Given the description of an element on the screen output the (x, y) to click on. 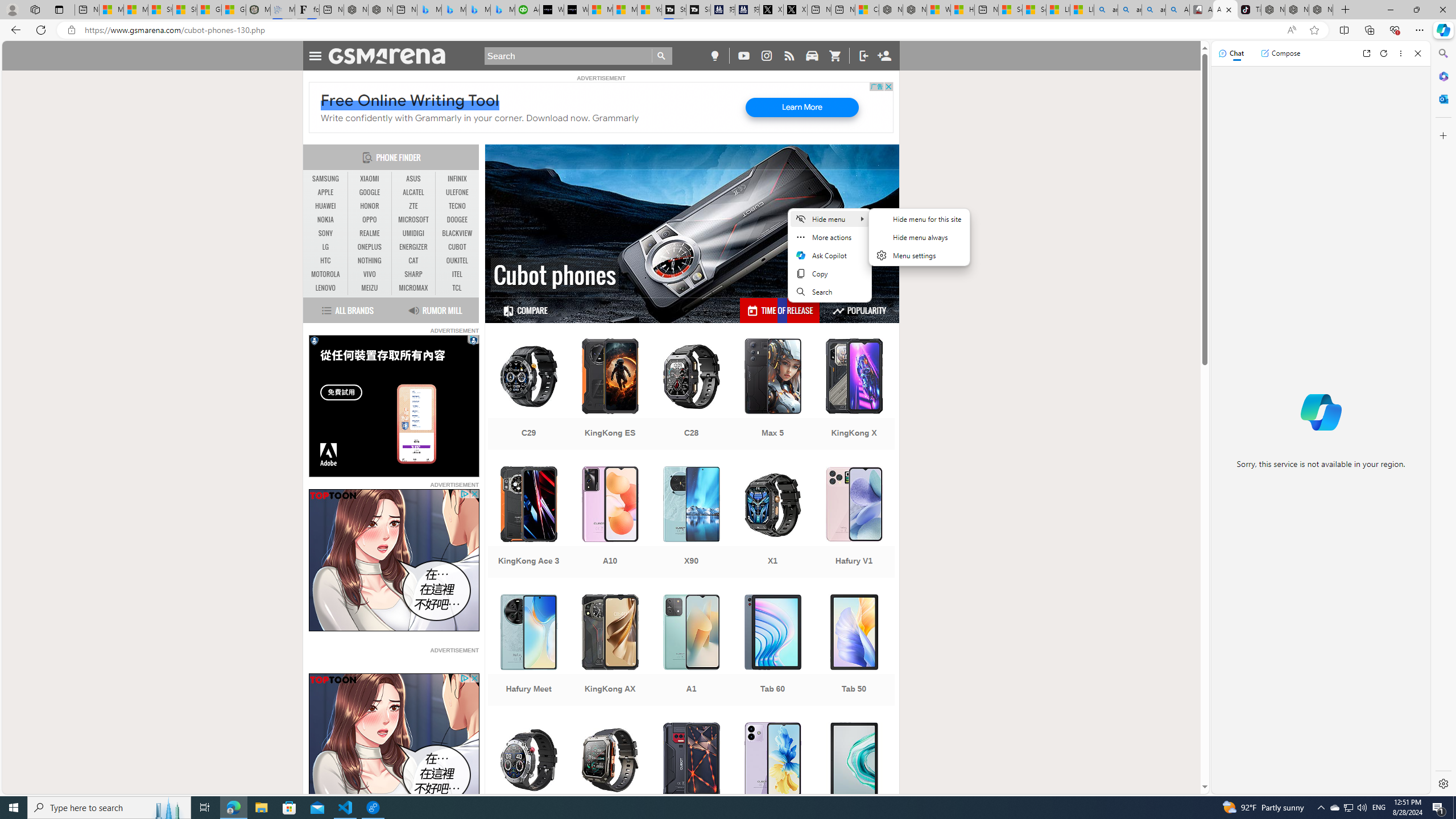
ZTE (413, 205)
Tab 60 (772, 651)
Hide menu (919, 244)
Microsoft Bing Travel - Shangri-La Hotel Bangkok (502, 9)
KingKong Ace 3 (528, 523)
